Given the description of an element on the screen output the (x, y) to click on. 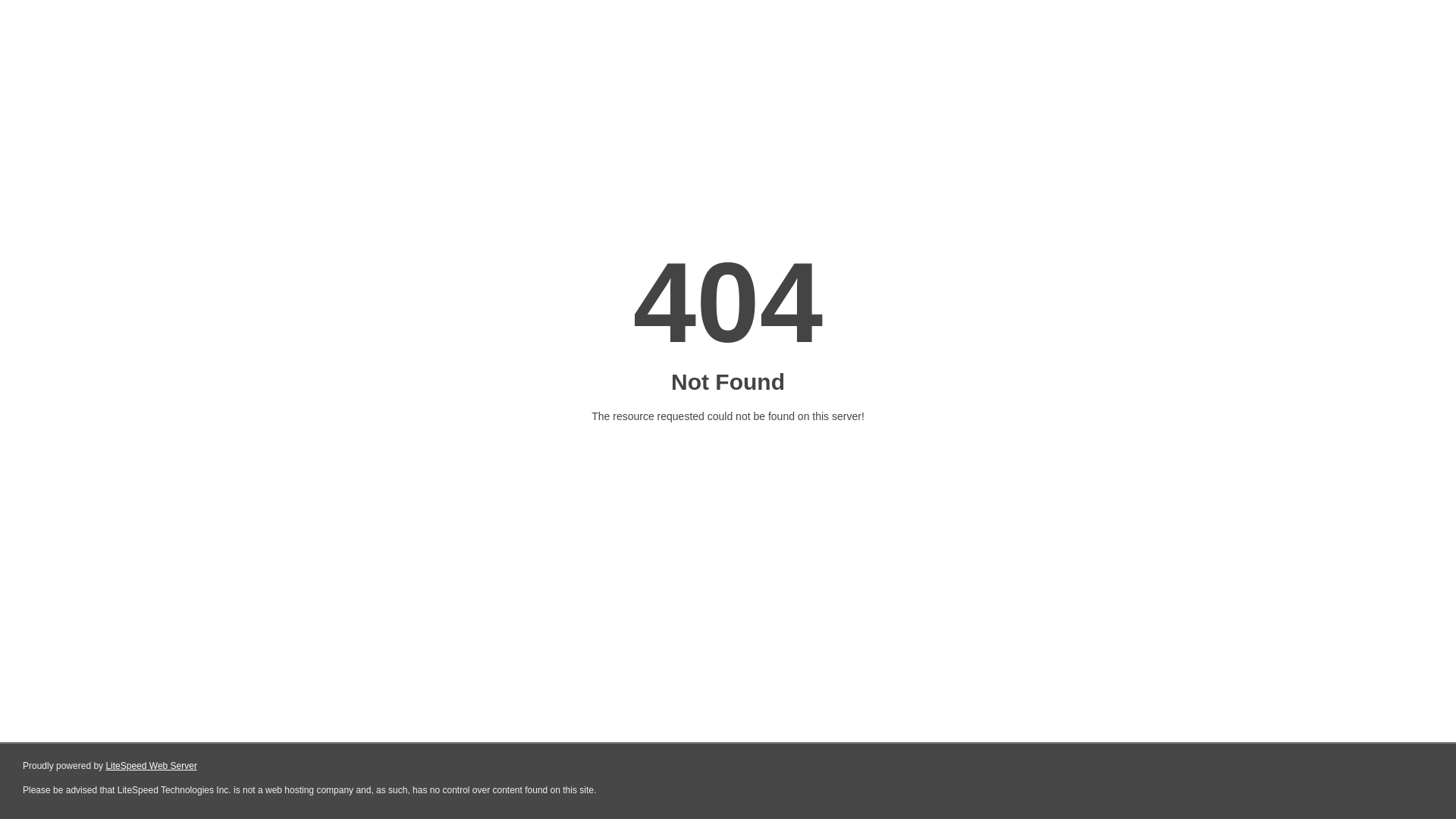
LiteSpeed Web Server Element type: text (151, 765)
